Given the description of an element on the screen output the (x, y) to click on. 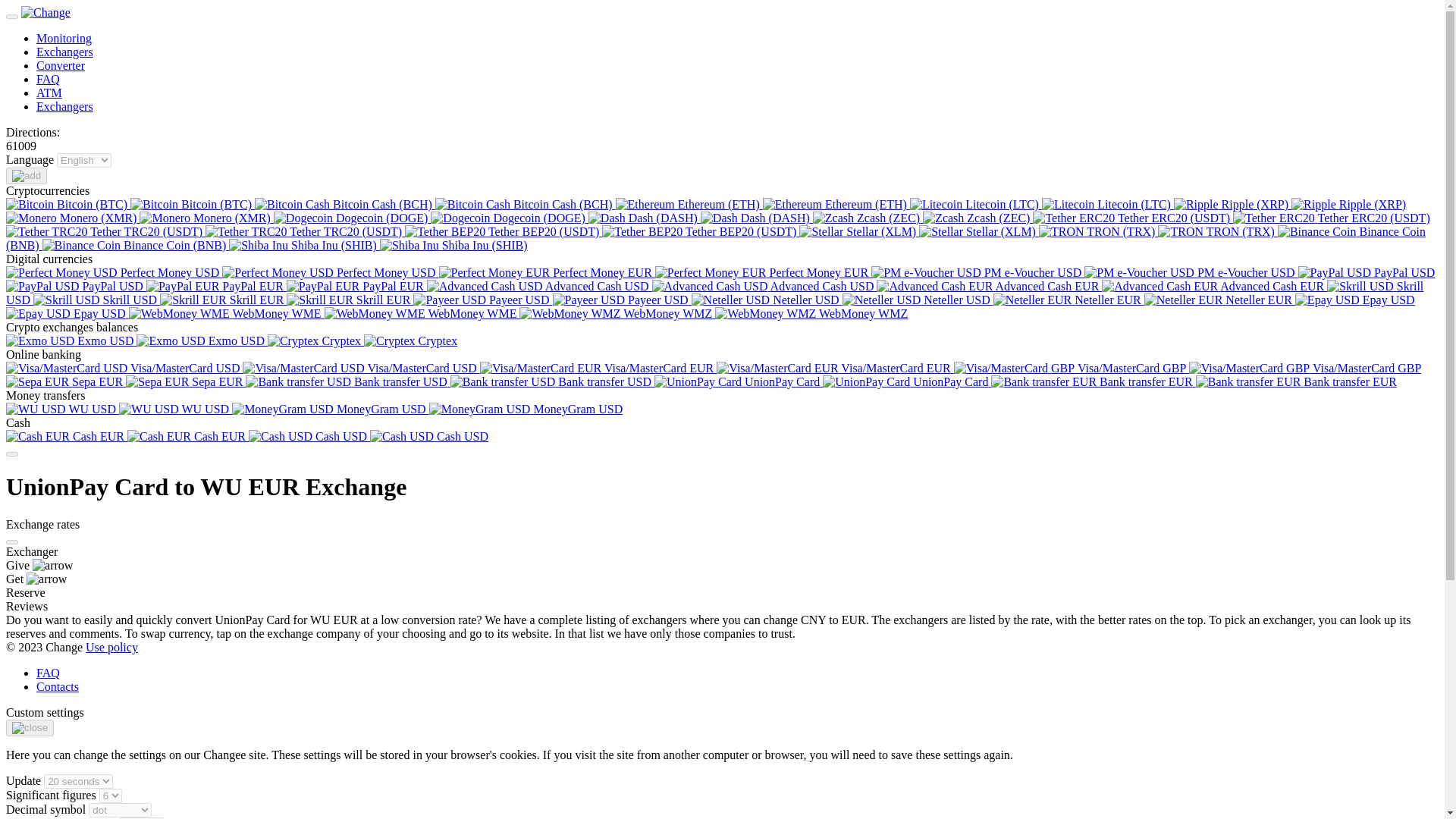
Monitoring (63, 38)
Bitcoin (29, 204)
FAQ (47, 78)
Change (45, 12)
Zcash (832, 218)
Ethereum (792, 204)
Ripple (1195, 204)
Dash (607, 218)
Dash (719, 218)
Ripple (1313, 204)
Converter (60, 65)
Litecoin (1068, 204)
Monero (30, 218)
Bitcoin Cash (473, 204)
Dogecoin (459, 218)
